Given the description of an element on the screen output the (x, y) to click on. 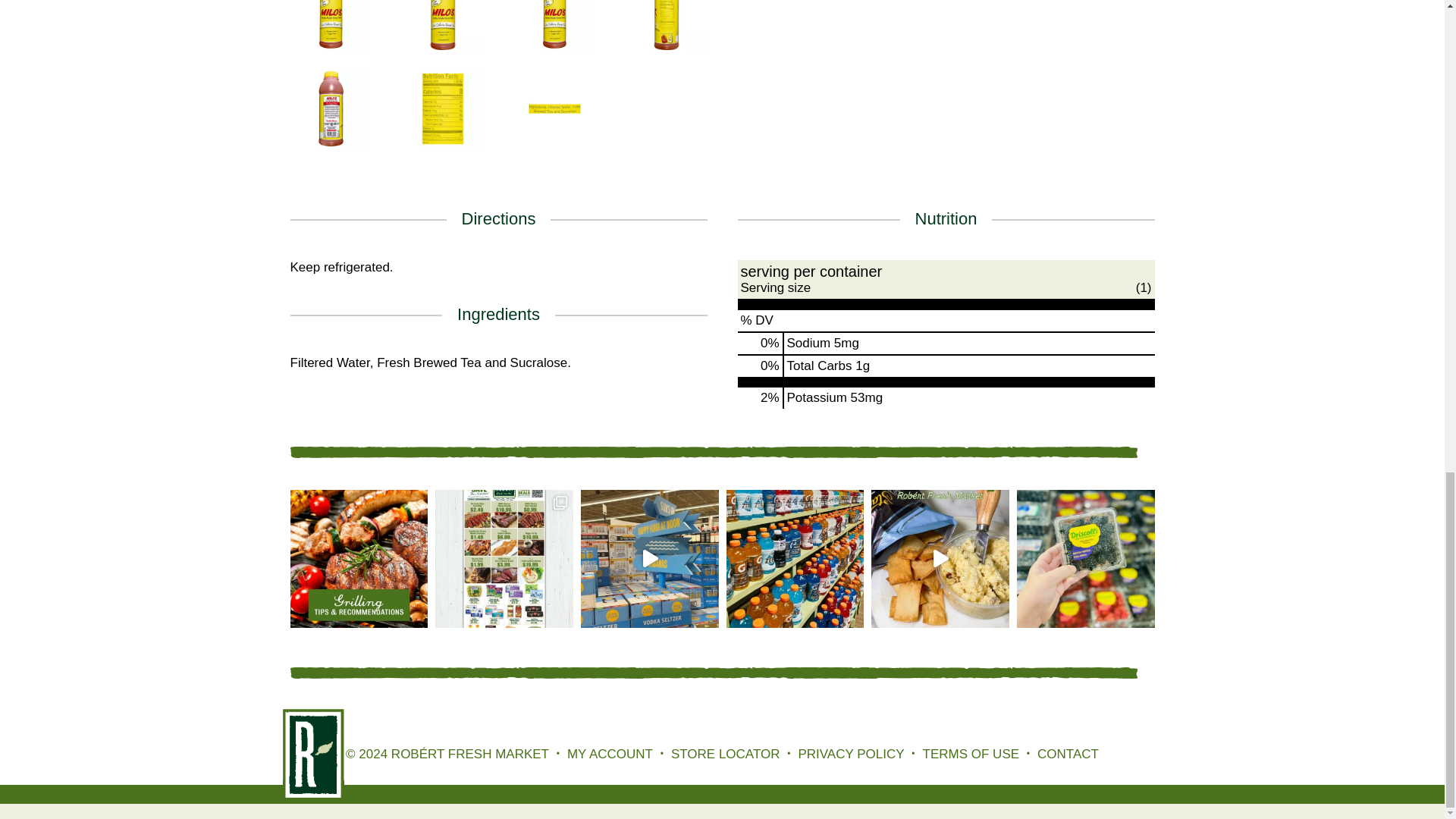
Green Border (713, 451)
Green Border (713, 672)
